Given the description of an element on the screen output the (x, y) to click on. 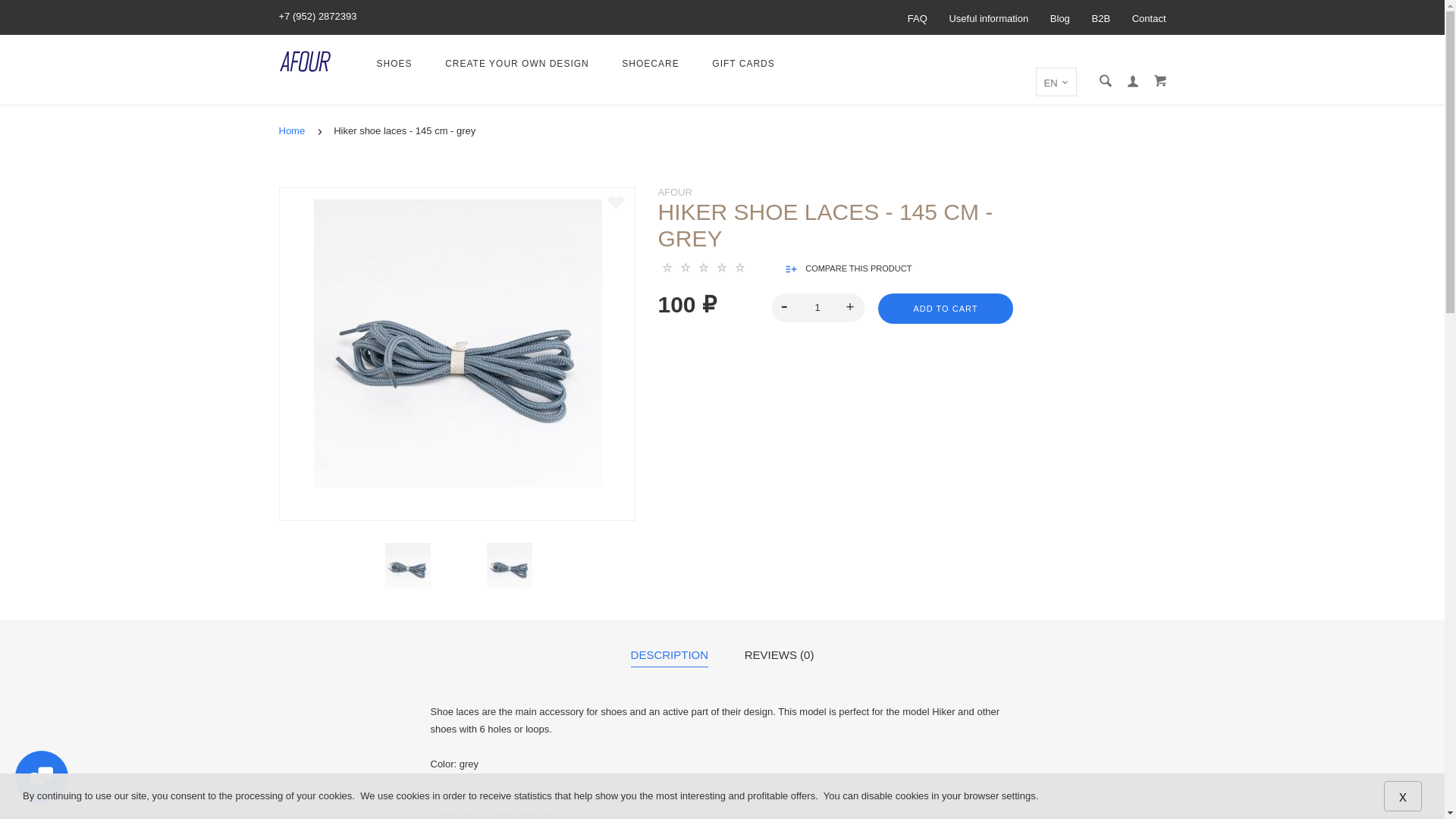
Hiker shoe laces - 145 cm - grey (509, 565)
FAQ (917, 19)
GIFT CARDS (742, 63)
AFOUR Custom Footwear (305, 61)
CREATE YOUR OWN DESIGN (517, 63)
Contact (1149, 19)
Brand: AFOUR (675, 192)
Add to Wish List (616, 202)
Blog (1059, 19)
Useful information (988, 19)
